Given the description of an element on the screen output the (x, y) to click on. 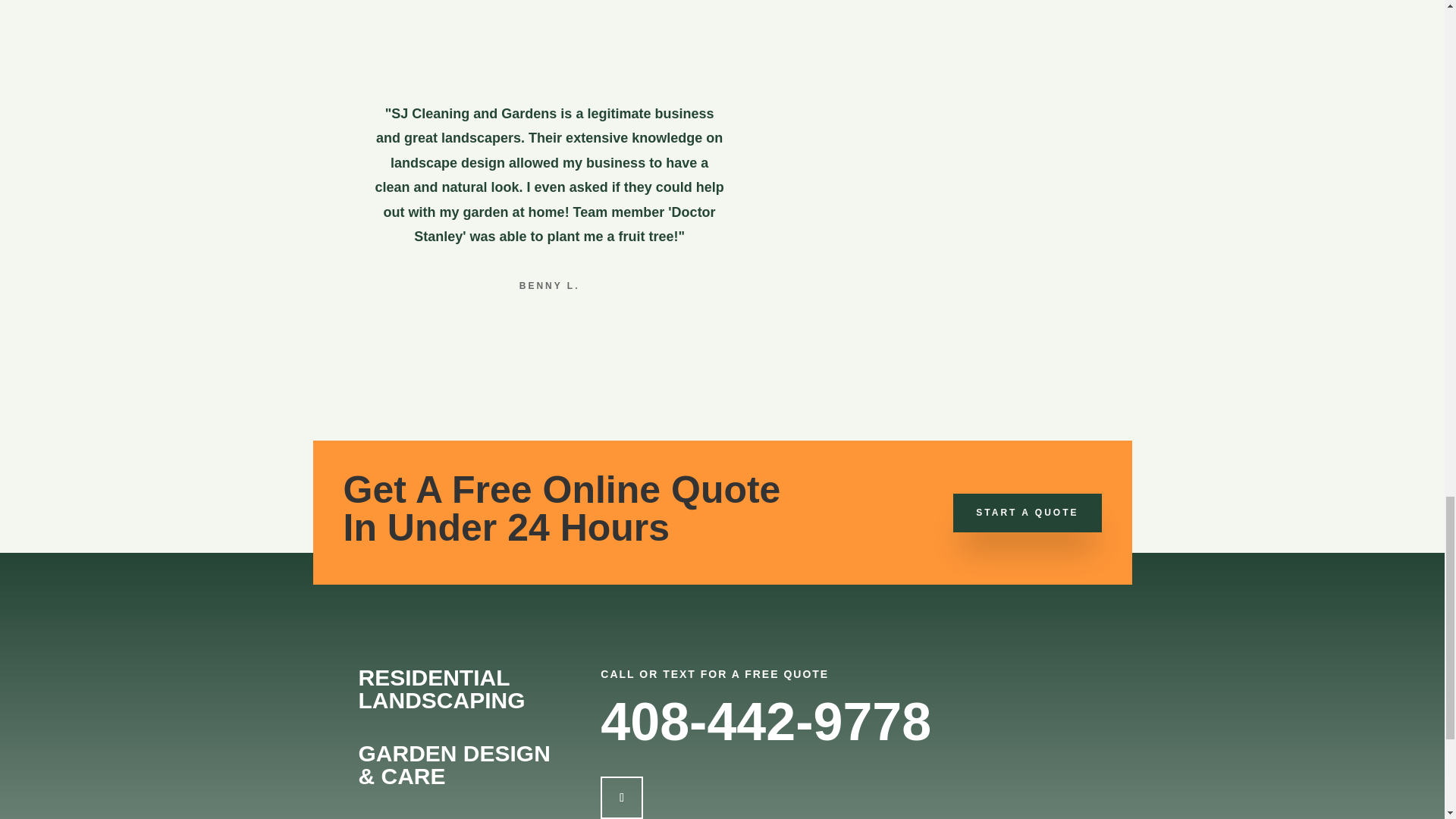
RESIDENTIAL LANDSCAPING (441, 688)
landscape-maintenance-09 (549, 70)
Follow on Instagram (621, 797)
Janitorial Services (981, 104)
START A QUOTE (1026, 512)
